Given the description of an element on the screen output the (x, y) to click on. 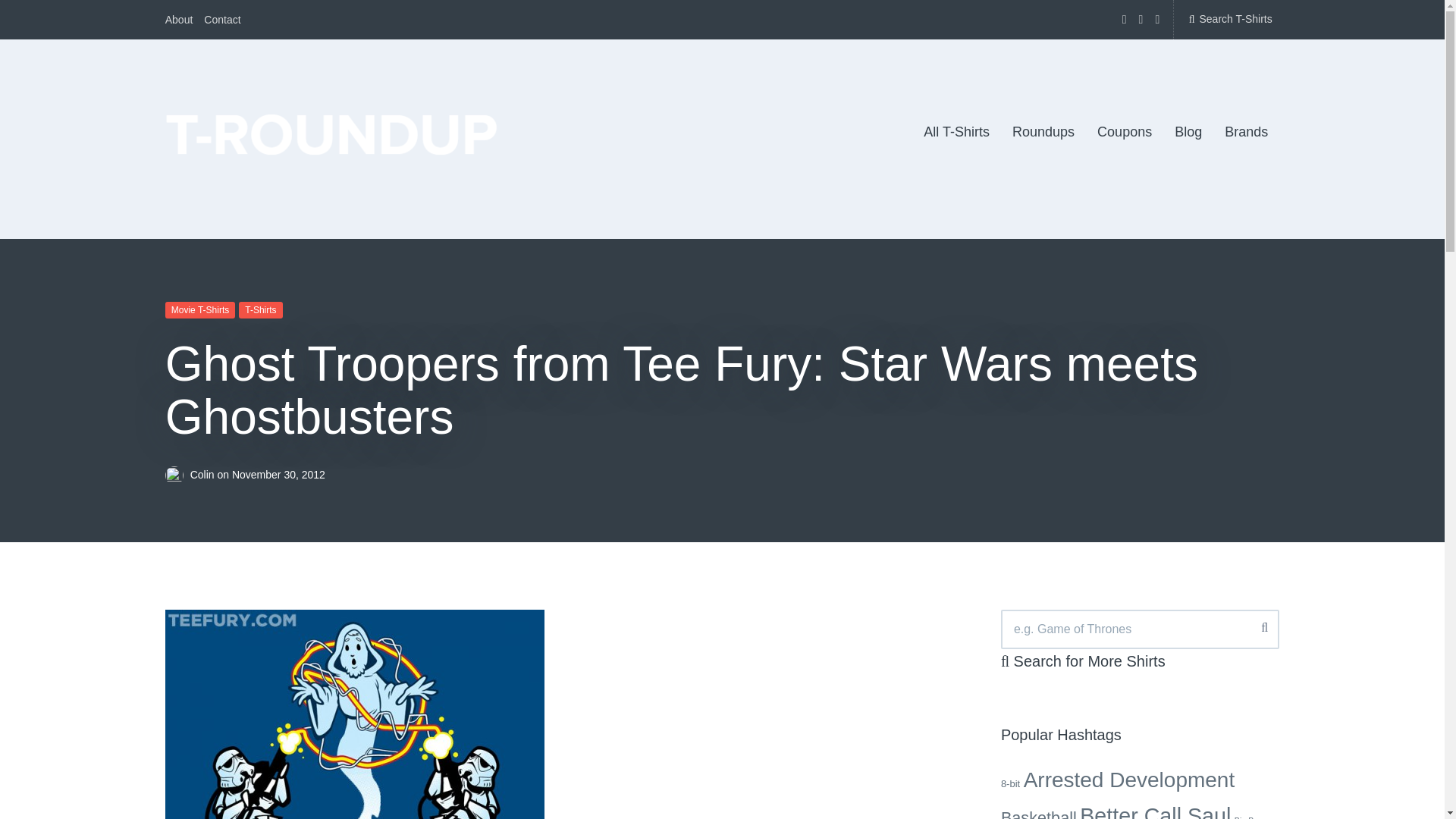
Contact (221, 19)
